Given the description of an element on the screen output the (x, y) to click on. 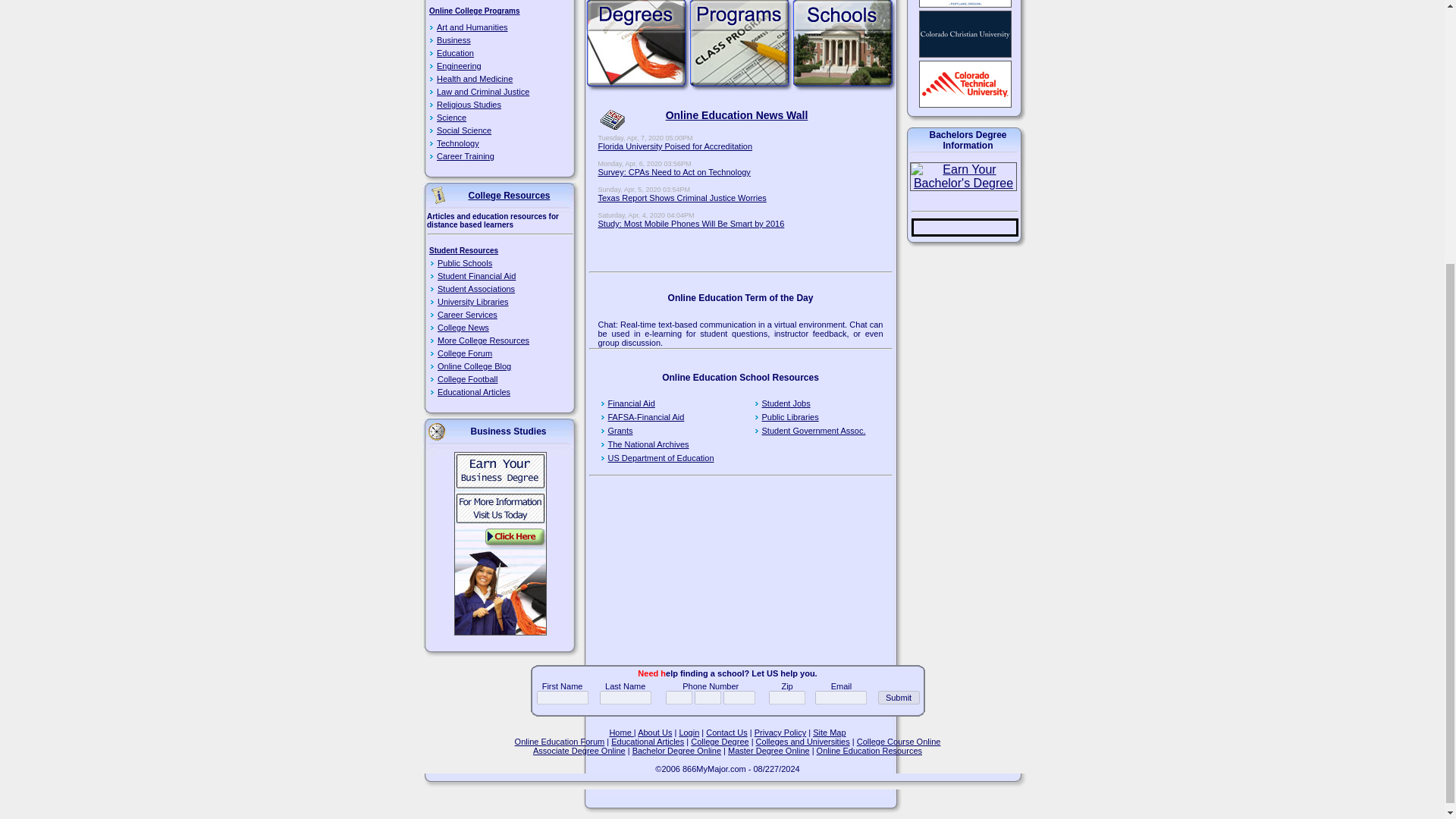
The National Archives (648, 443)
Online College Programs (474, 10)
Education Online Degree News (611, 119)
FAFSA-Financial Aid (646, 416)
Texas Report Shows Criminal Justice Worries (680, 197)
Online Degree from Concordia University Online (964, 3)
Submit (898, 697)
Florida University Poised for Accreditation (674, 145)
Study: Most Mobile Phones Will Be Smart by 2016 (690, 223)
Financial Aid (631, 402)
